Given the description of an element on the screen output the (x, y) to click on. 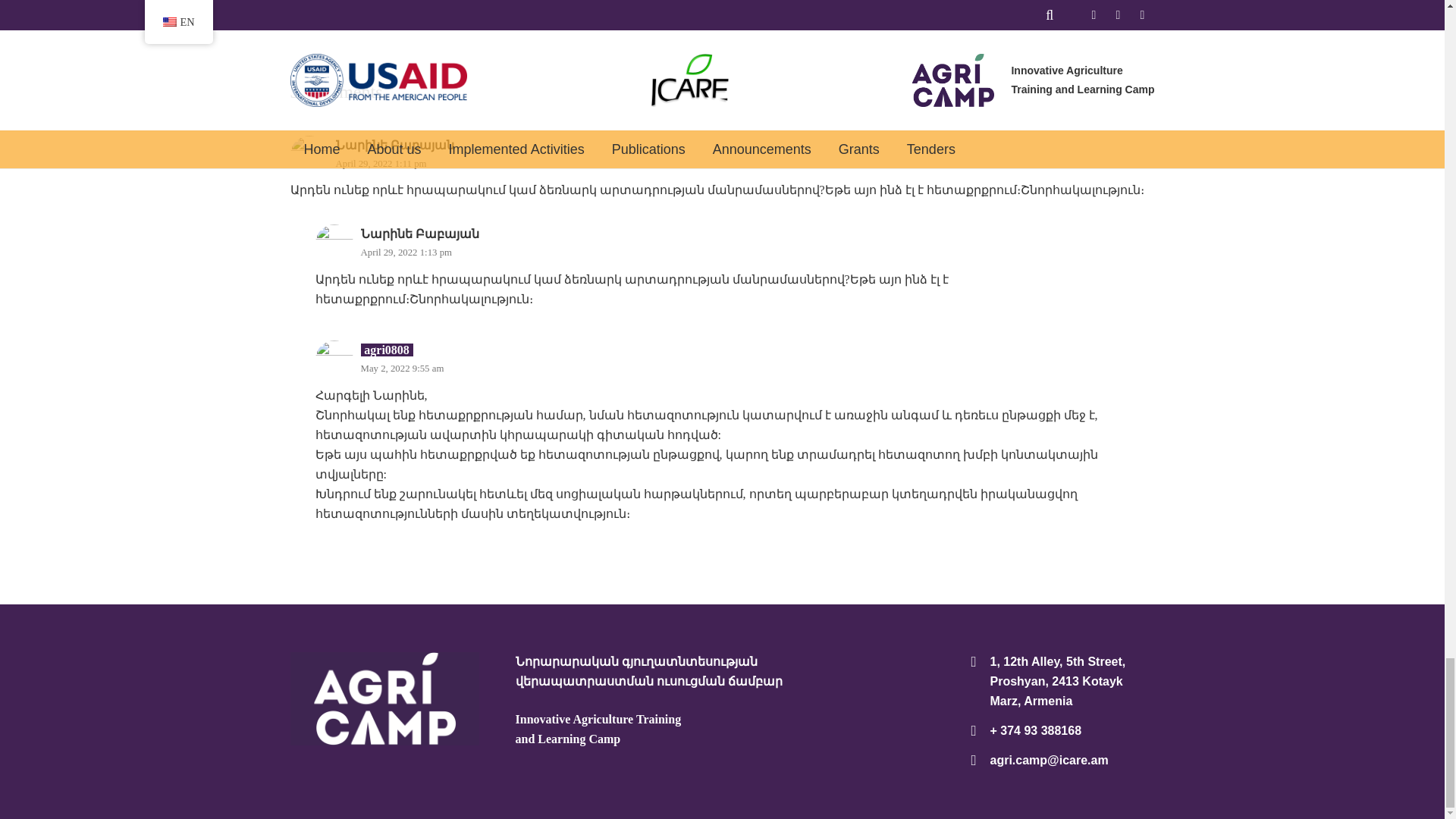
April 29, 2022 1:13 pm (406, 252)
May 2, 2022 9:55 am (402, 368)
April 29, 2022 1:11 pm (380, 163)
